Given the description of an element on the screen output the (x, y) to click on. 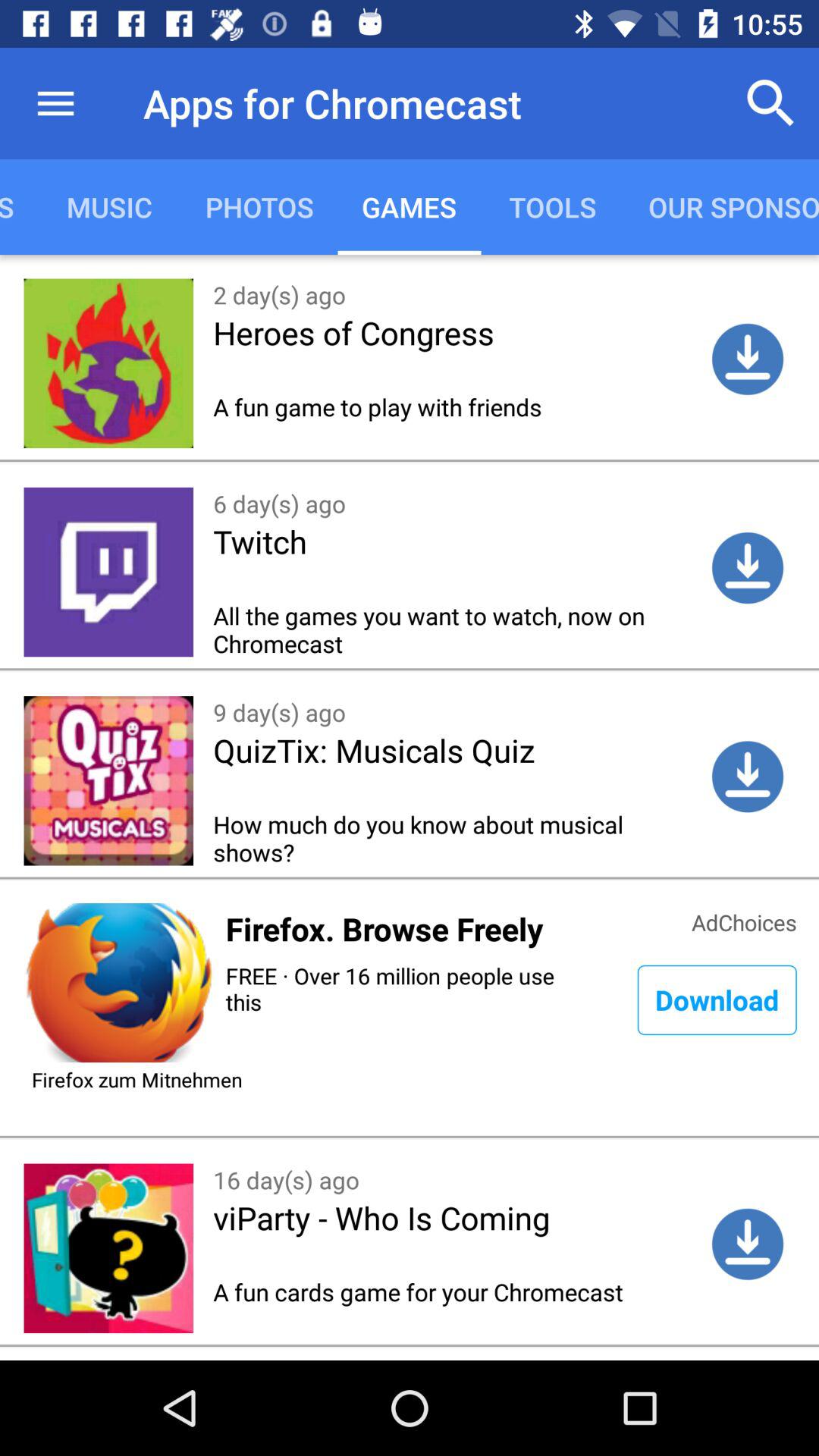
tap icon above videos/movies (55, 103)
